Given the description of an element on the screen output the (x, y) to click on. 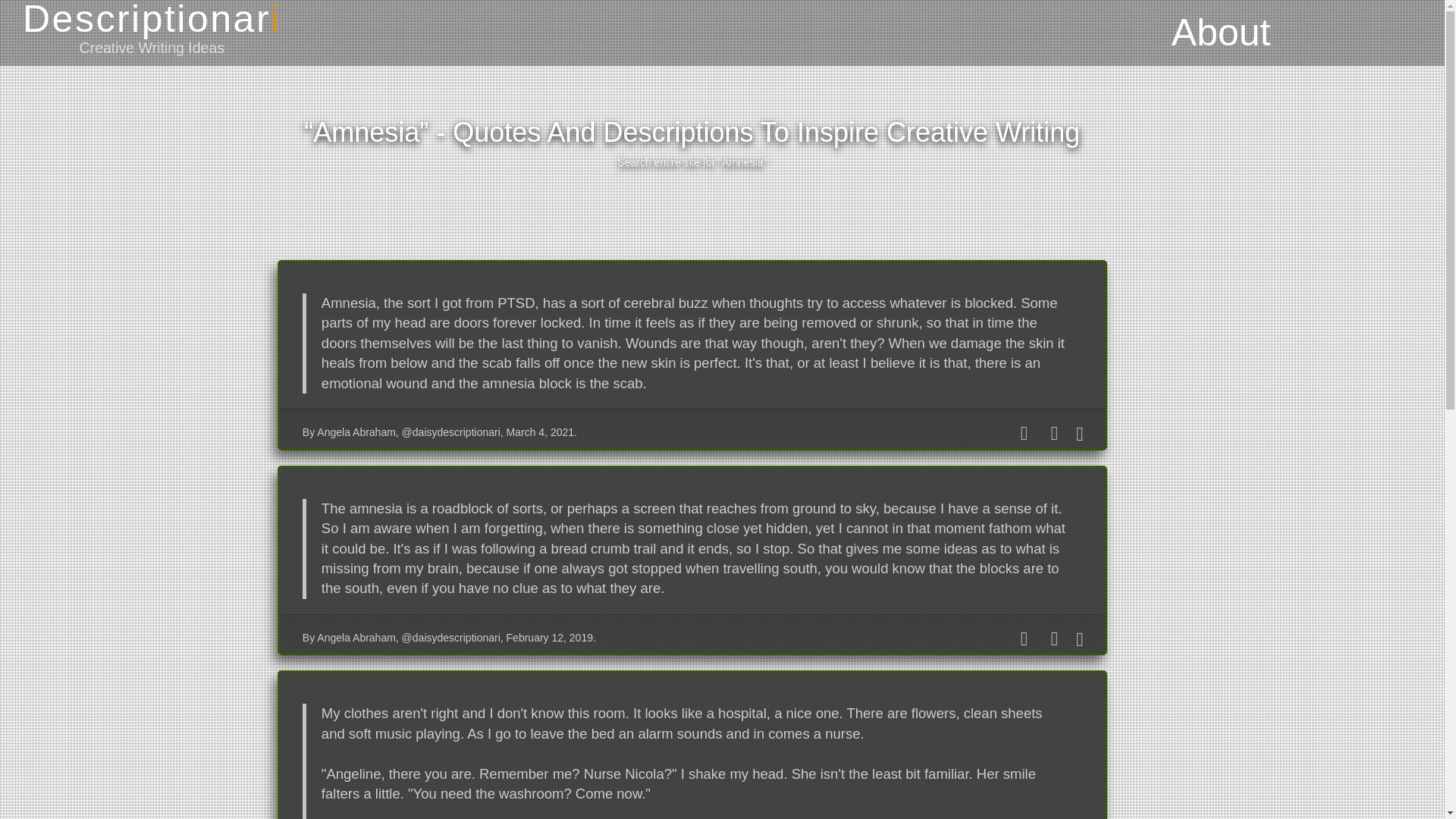
Descriptionari (151, 18)
About Descriptionari (1221, 30)
Let daisy know you like this (1024, 433)
Search entire site for amnesia (692, 162)
Follow daisy (1054, 433)
Let daisy know you like this (1024, 638)
About (1221, 30)
Search entire site for Amnesia (692, 162)
Follow daisy (1054, 638)
Describe amnesia (692, 132)
